Given the description of an element on the screen output the (x, y) to click on. 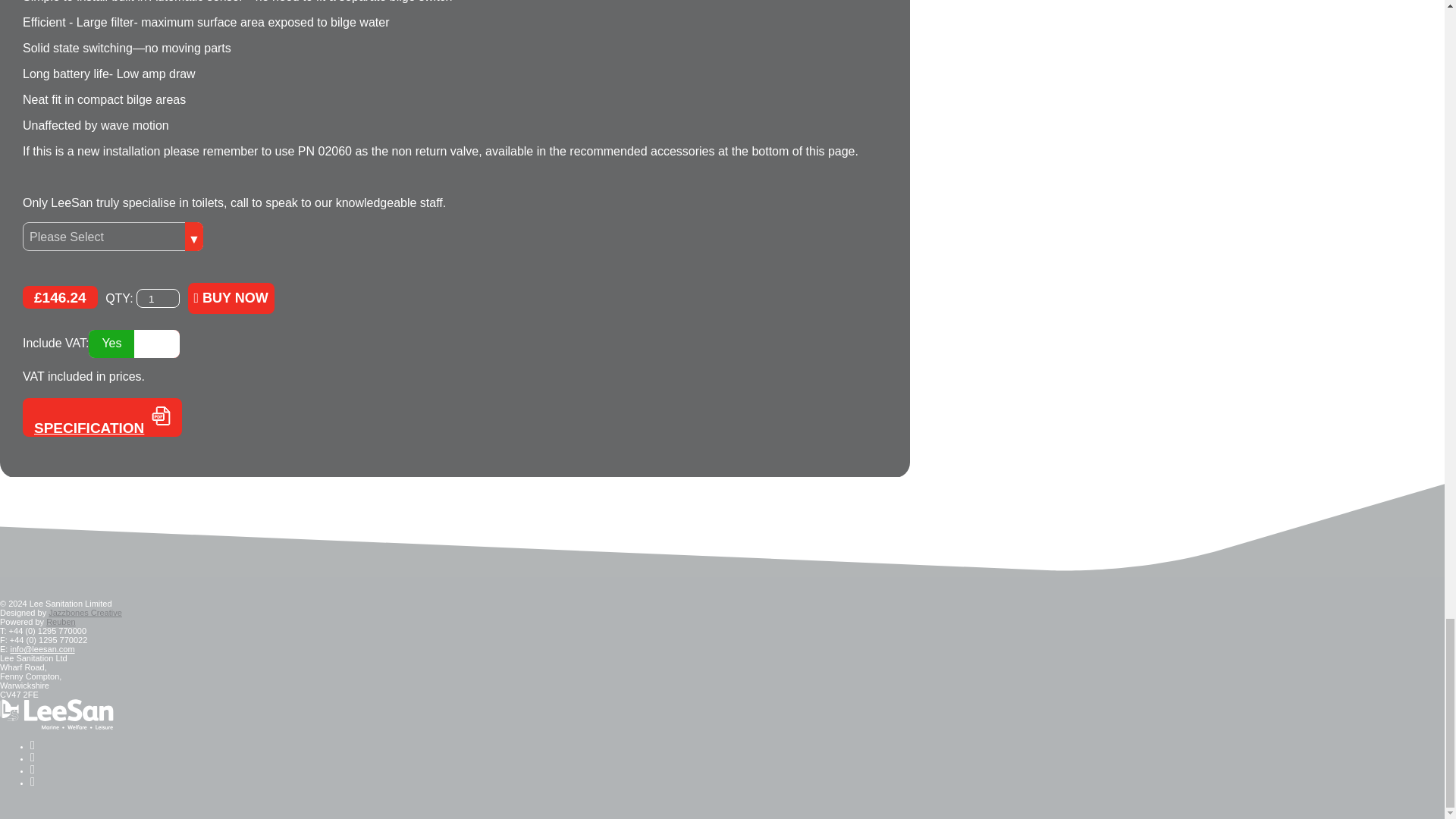
1 (157, 298)
